Given the description of an element on the screen output the (x, y) to click on. 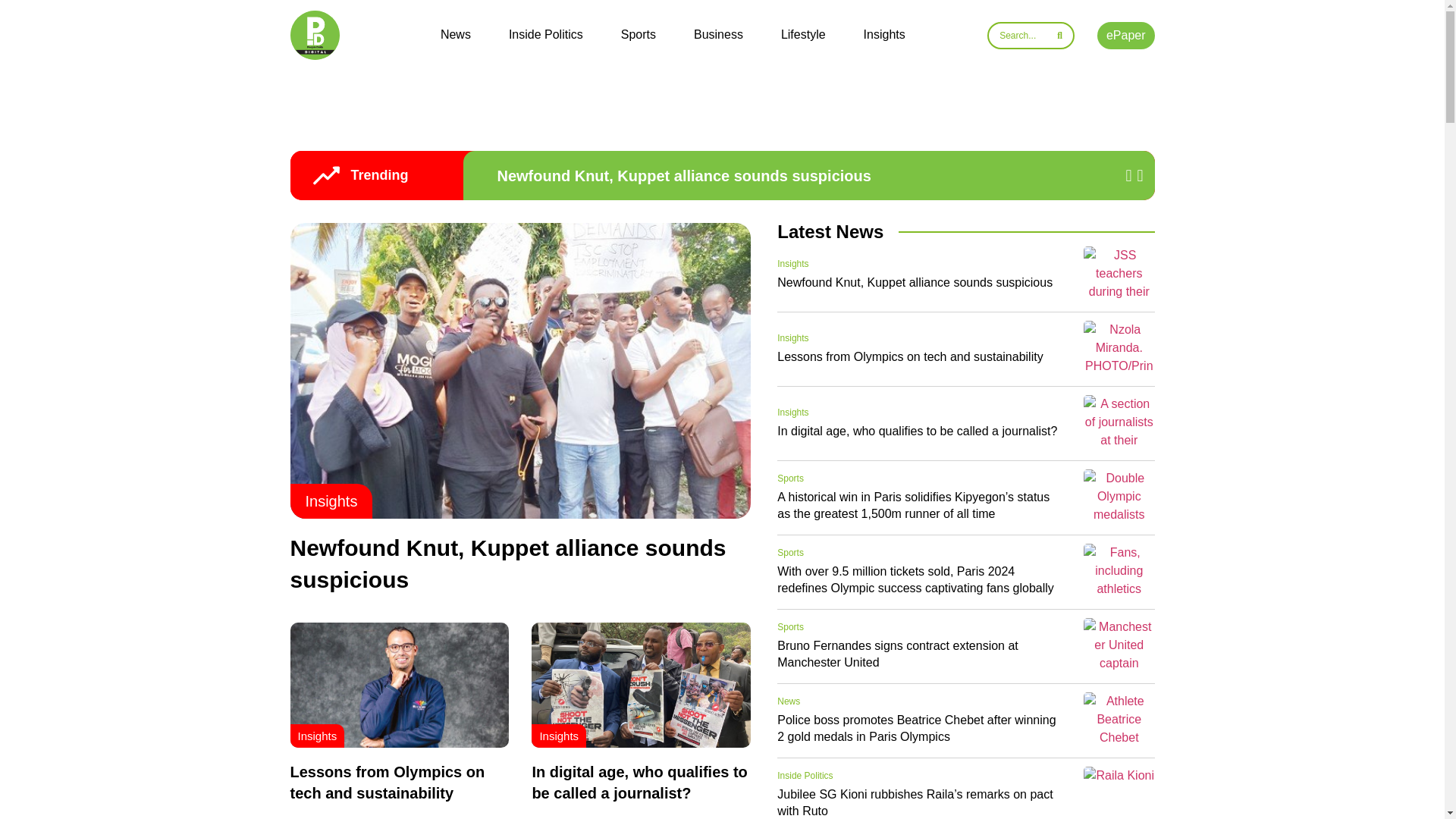
News (455, 34)
Insights (884, 34)
Insights (558, 735)
In digital age, who qualifies to be called a journalist? (638, 782)
Lifestyle (802, 34)
Insights (330, 501)
Insights (792, 337)
Inside Politics (545, 34)
Insights (316, 735)
Insights (792, 263)
